Given the description of an element on the screen output the (x, y) to click on. 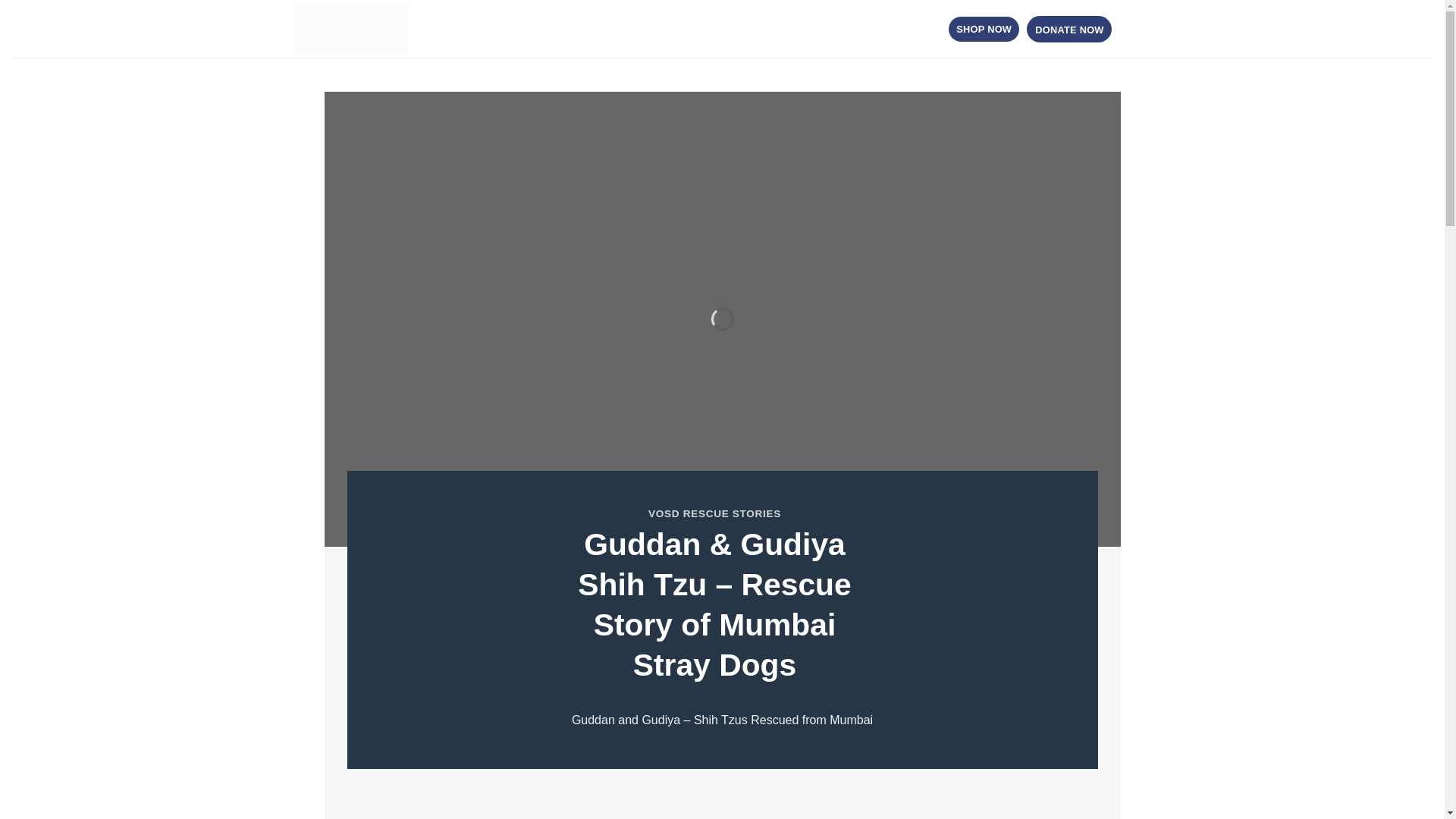
ABOUT US (469, 28)
OUR WORK (536, 28)
OUR SERVICES (615, 28)
